Given the description of an element on the screen output the (x, y) to click on. 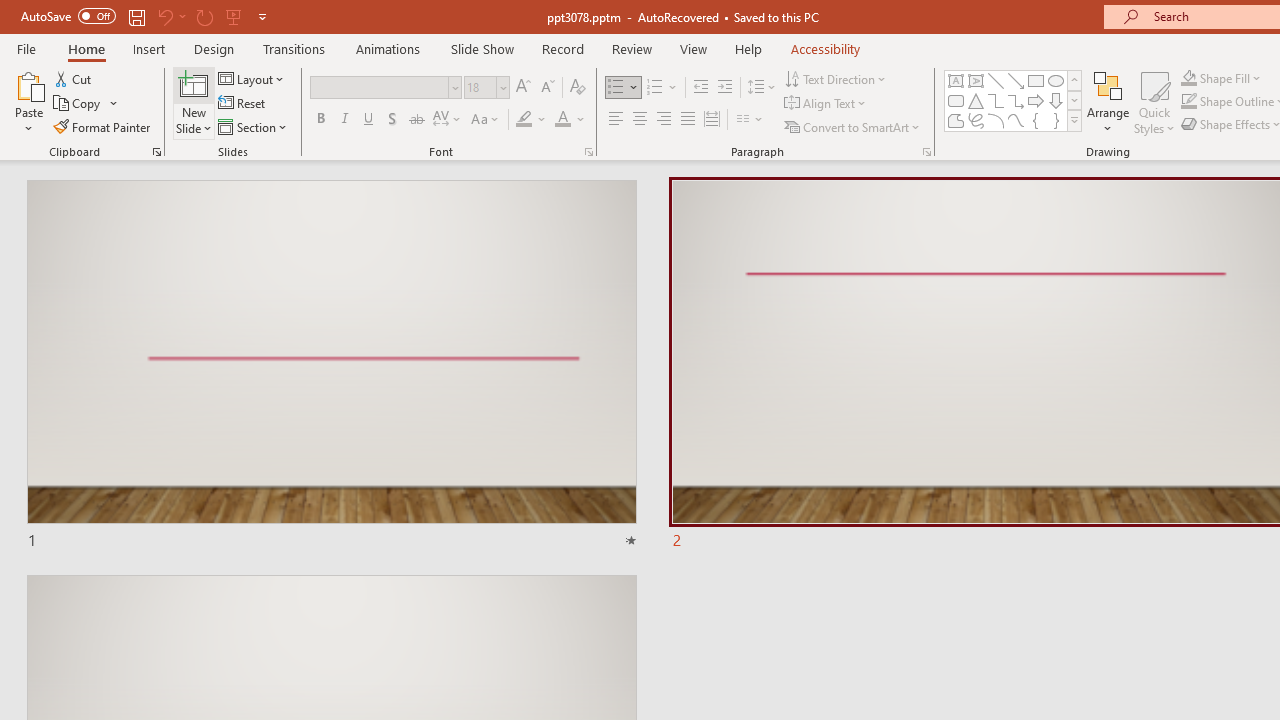
Reset (243, 103)
Line Arrow (1016, 80)
Character Spacing (447, 119)
Distributed (712, 119)
Connector: Elbow Arrow (1016, 100)
